Given the description of an element on the screen output the (x, y) to click on. 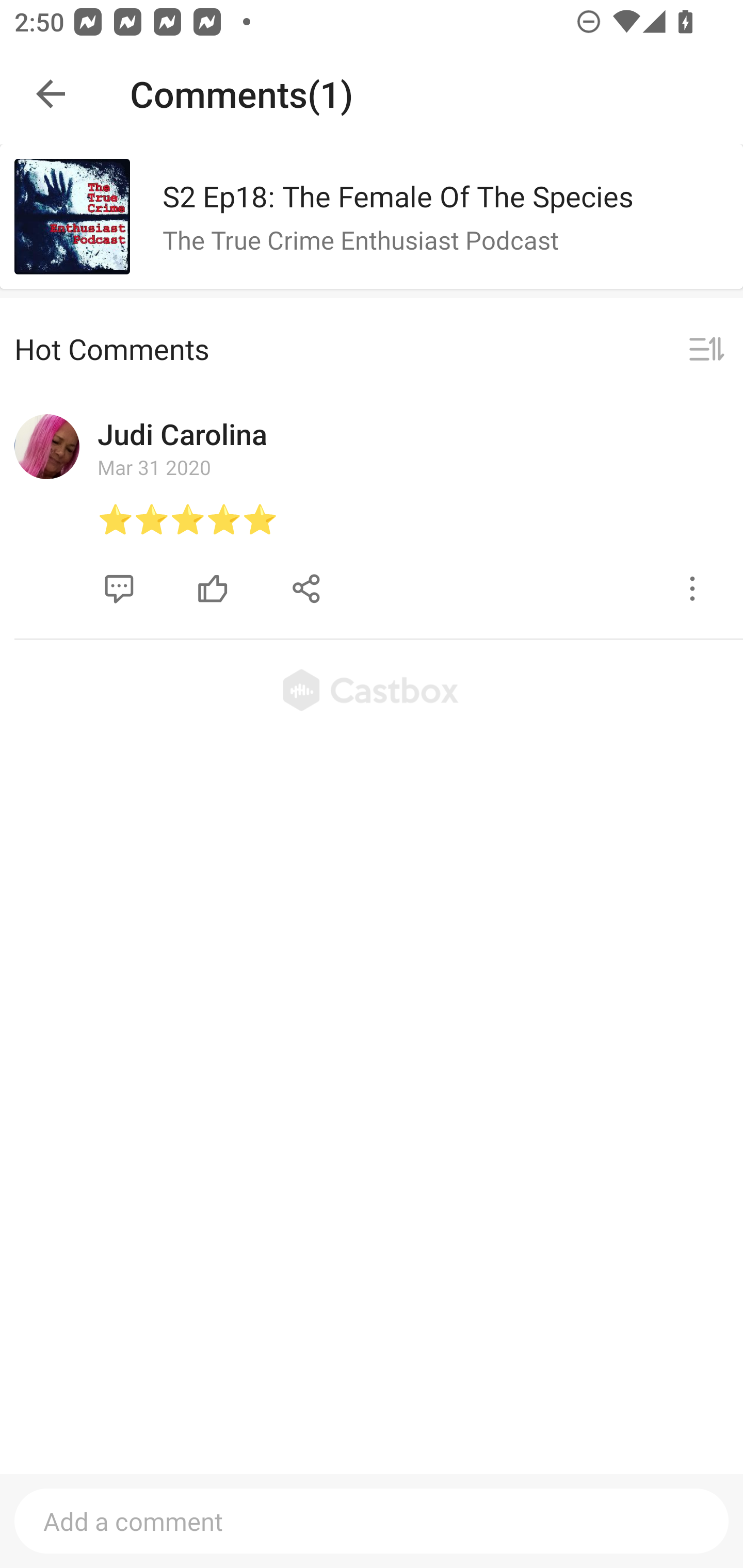
Navigate up (50, 93)
 (706, 349)
Judi Carolina Mar 31 2020 ⭐⭐⭐⭐⭐     (371, 512)
 (119, 588)
 (212, 588)
 (307, 588)
 (692, 588)
Add a comment (371, 1520)
